Given the description of an element on the screen output the (x, y) to click on. 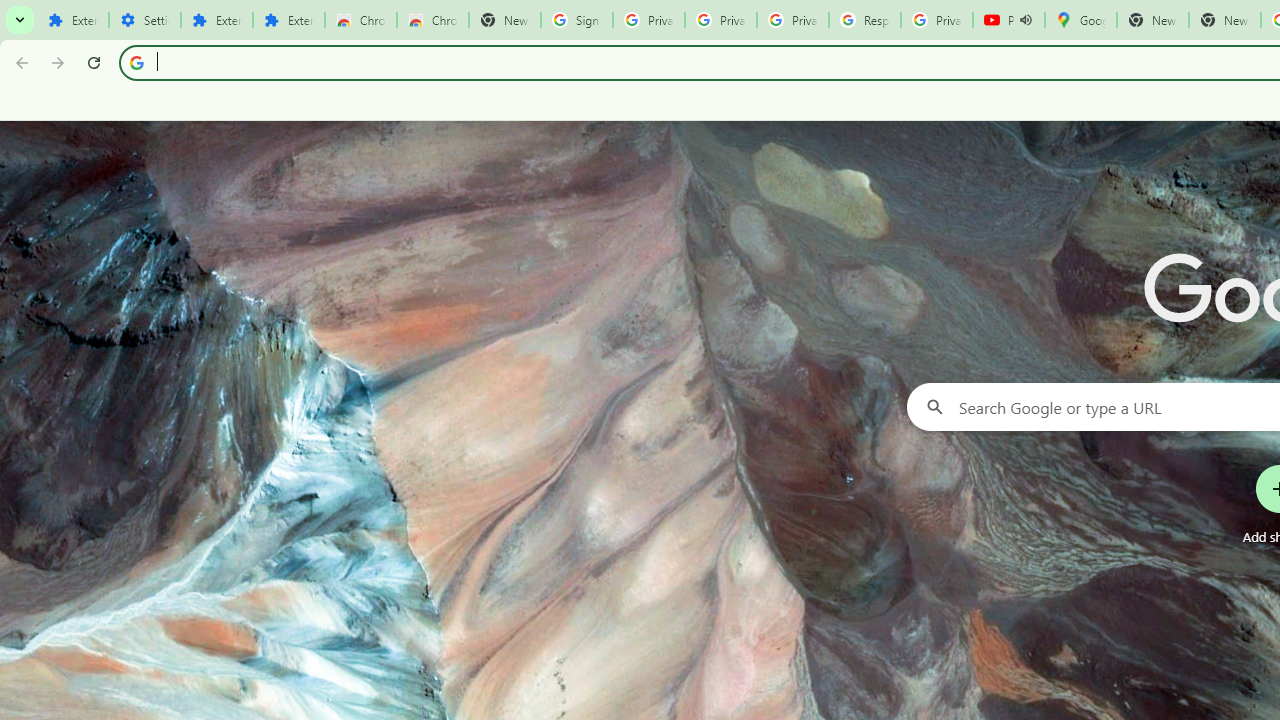
Extensions (289, 20)
Extensions (72, 20)
Chrome Web Store - Themes (432, 20)
Google Maps (1080, 20)
Personalized AI for you | Gemini - YouTube - Audio playing (1008, 20)
